Given the description of an element on the screen output the (x, y) to click on. 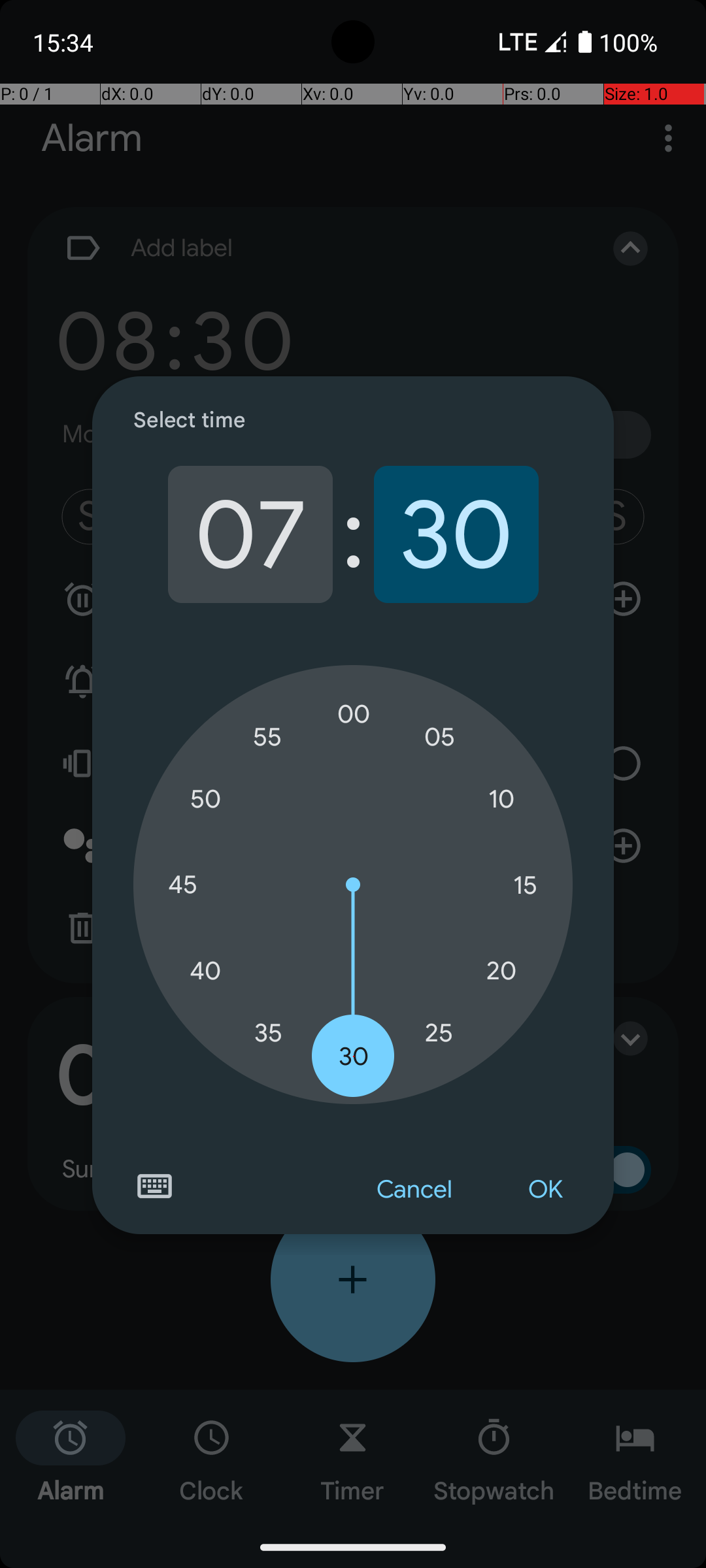
07 Element type: android.view.View (250, 534)
